Given the description of an element on the screen output the (x, y) to click on. 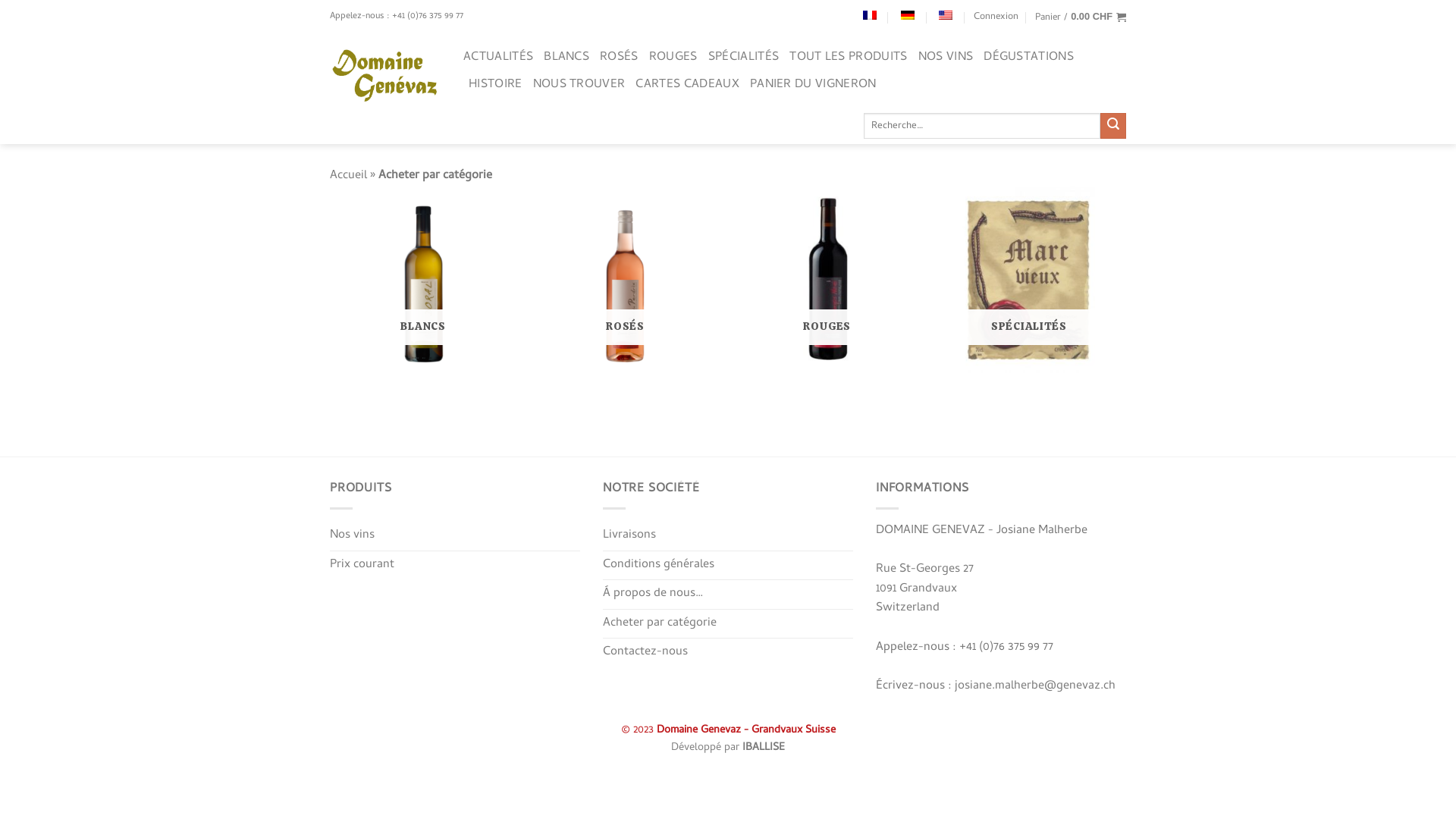
Accueil Element type: text (348, 175)
HISTOIRE Element type: text (495, 84)
CARTES CADEAUX Element type: text (686, 84)
NOUS TROUVER Element type: text (579, 84)
Recherche Element type: text (1113, 125)
German Element type: hover (907, 14)
BLANCS Element type: text (423, 279)
Connexion Element type: text (995, 17)
Nos vins Element type: text (351, 535)
Prix courant Element type: text (361, 565)
Rue St-Georges 27
1091 Grandvaux
Switzerland Element type: text (924, 588)
English Element type: hover (945, 14)
Livraisons Element type: text (628, 535)
NOS VINS Element type: text (945, 57)
IBALLISE Element type: text (763, 747)
Josiane Malherbe | Vins Genevaz Element type: hover (384, 76)
ROUGES Element type: text (826, 279)
Panier / 0.00 CHF Element type: text (1080, 17)
josiane.malherbe@genevaz.ch Element type: text (1034, 686)
ROUGES Element type: text (673, 57)
BLANCS Element type: text (566, 57)
TOUT LES PRODUITS Element type: text (847, 57)
PANIER DU VIGNERON Element type: text (812, 84)
French Element type: hover (869, 14)
Contactez-nous Element type: text (644, 652)
